Given the description of an element on the screen output the (x, y) to click on. 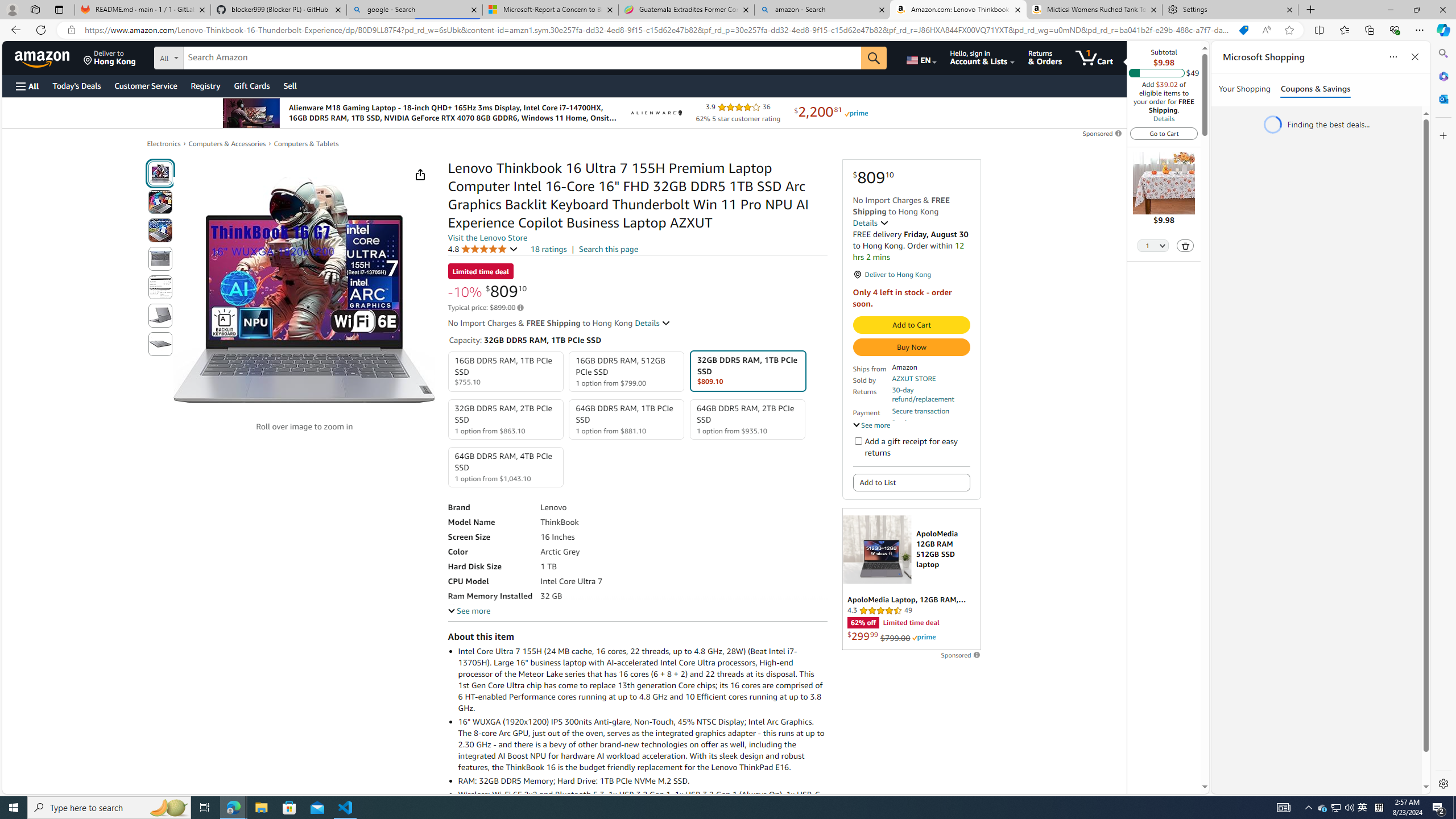
Delete (1184, 245)
google - Search (414, 9)
Skip to main content (48, 56)
Search Amazon (522, 57)
Sell (290, 85)
Search this page (608, 248)
RAM: 32GB DDR5 Memory; Hard Drive: 1TB PCIe NVMe M.2 SSD. (642, 780)
Details (1163, 118)
Add to List (911, 482)
Electronics (163, 143)
